Given the description of an element on the screen output the (x, y) to click on. 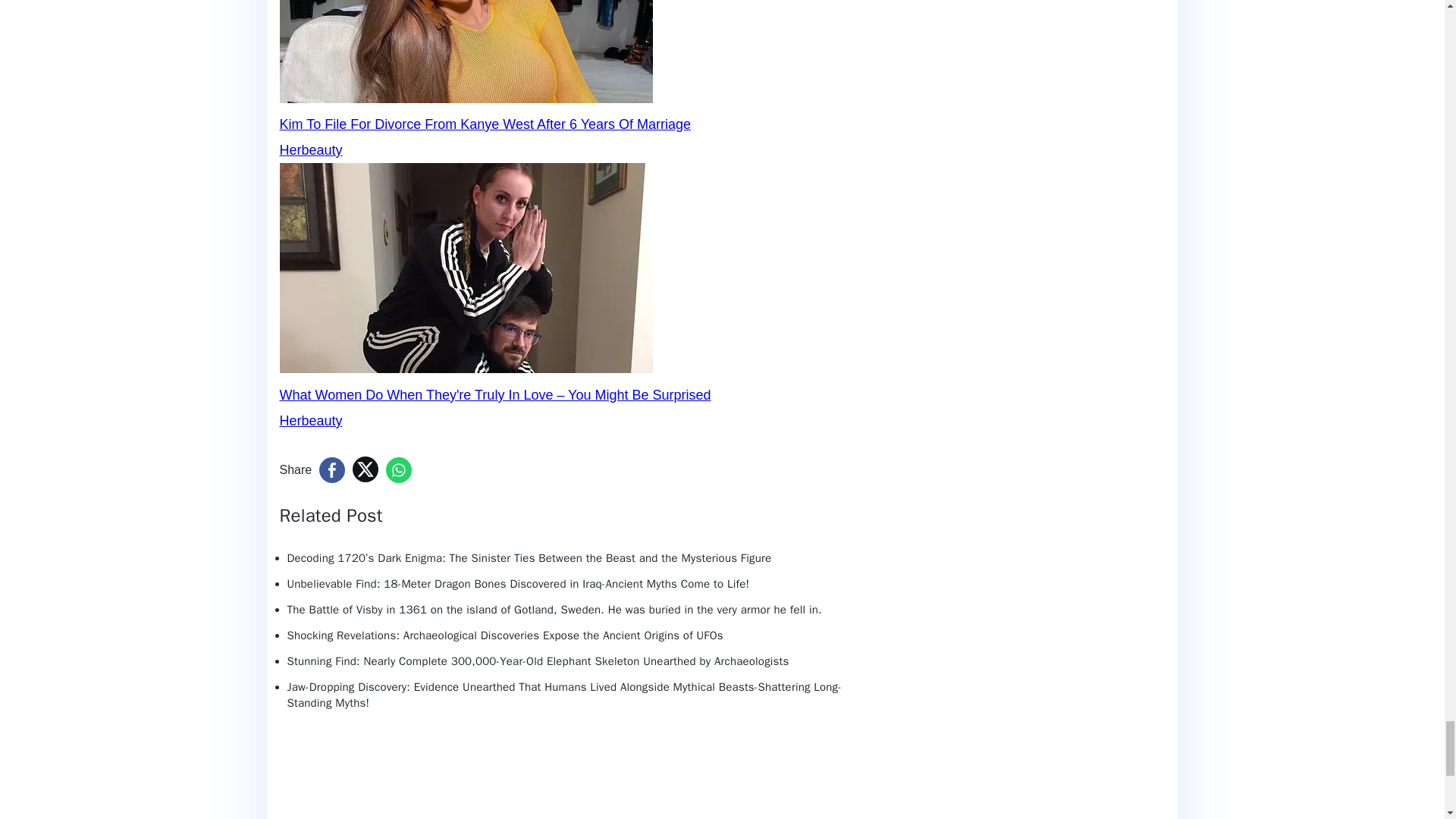
Share  facebook (331, 470)
WhatsApp (398, 470)
Share  twitter (365, 469)
